Given the description of an element on the screen output the (x, y) to click on. 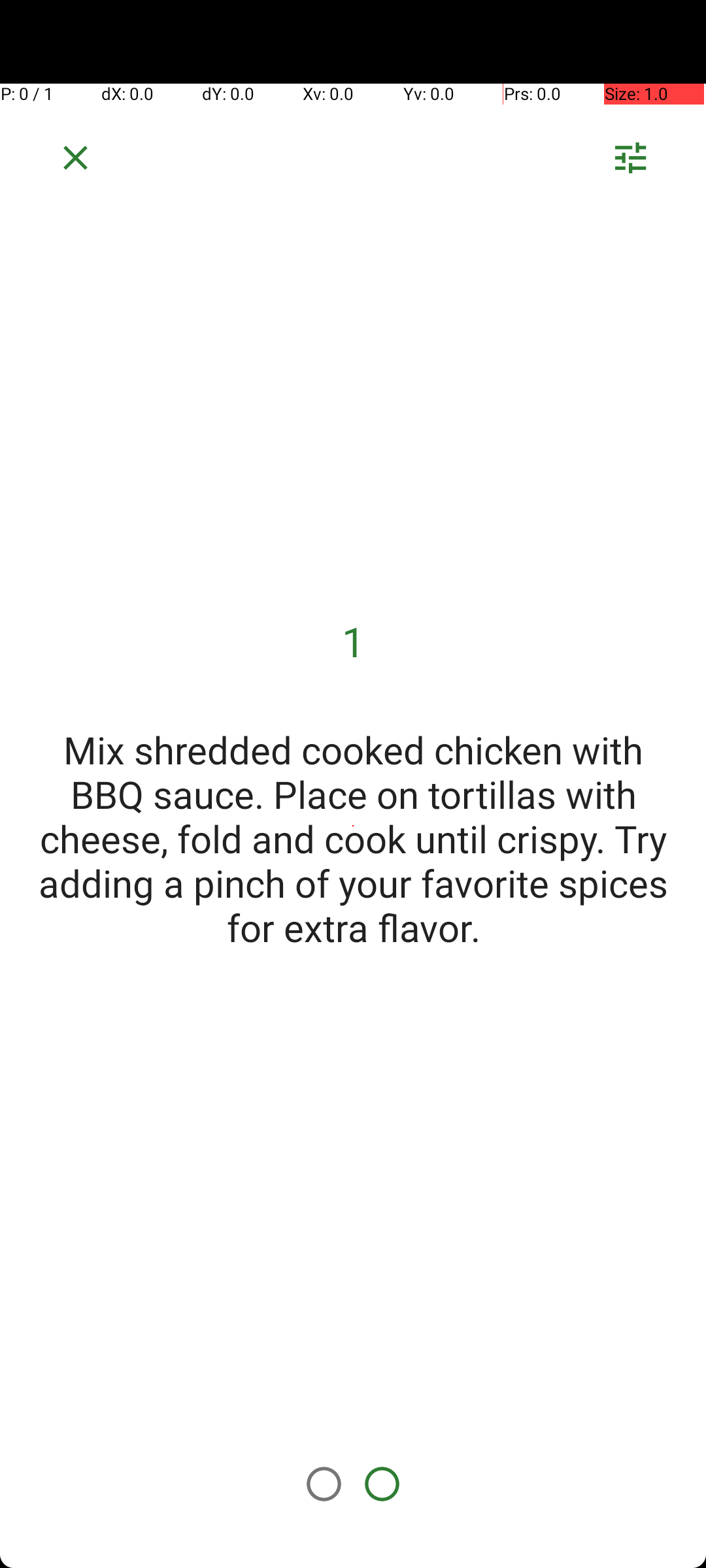
Mix shredded cooked chicken with BBQ sauce. Place on tortillas with cheese, fold and cook until crispy. Try adding a pinch of your favorite spices for extra flavor. Element type: android.widget.TextView (352, 837)
